Given the description of an element on the screen output the (x, y) to click on. 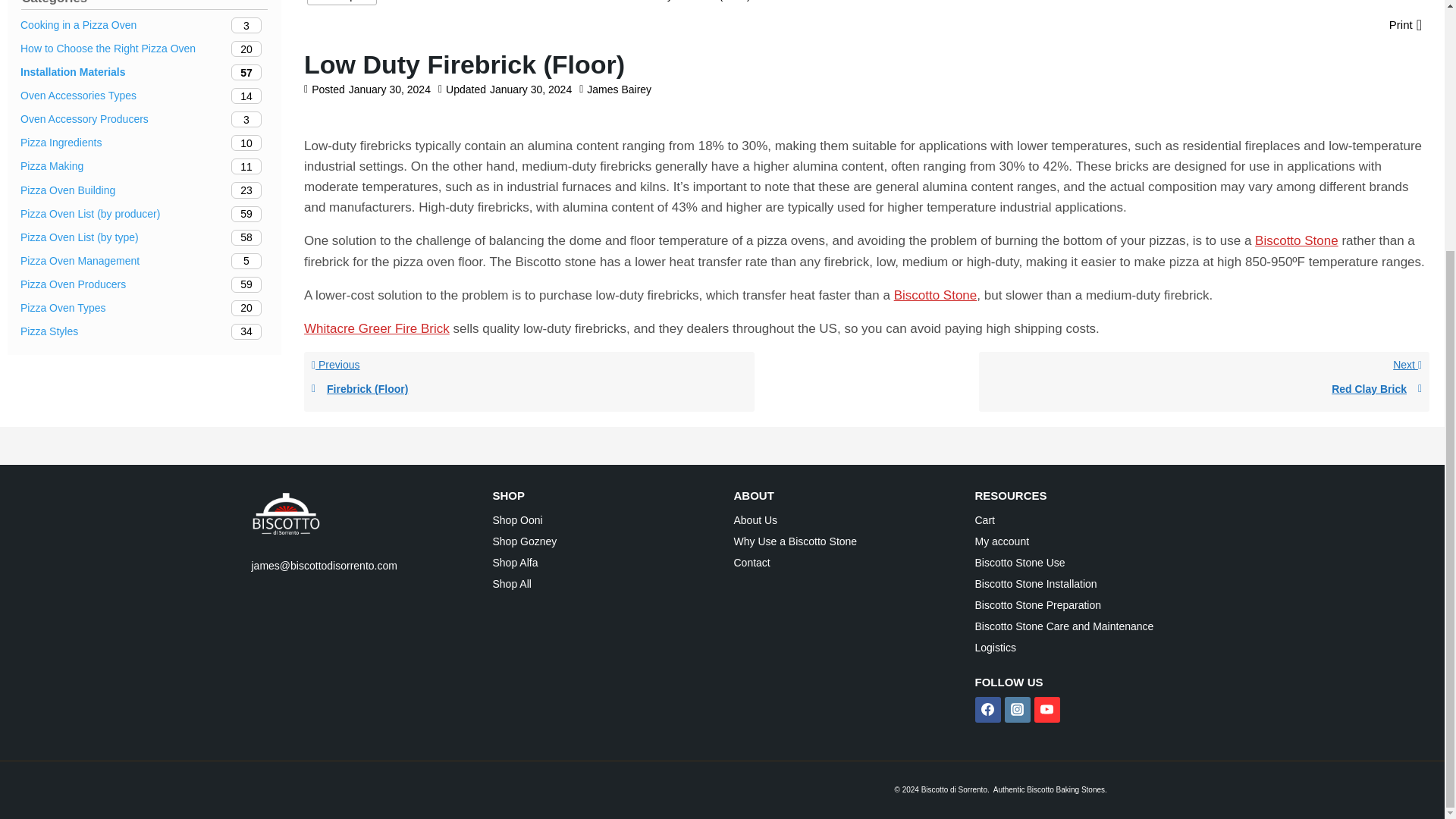
Red Clay Brick (1204, 389)
